Given the description of an element on the screen output the (x, y) to click on. 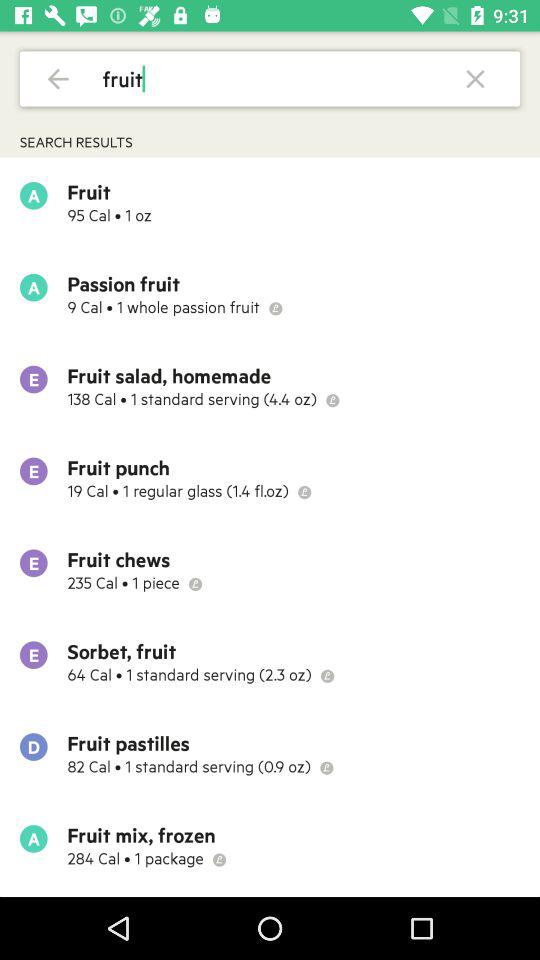
open item next to the fruit (57, 78)
